Given the description of an element on the screen output the (x, y) to click on. 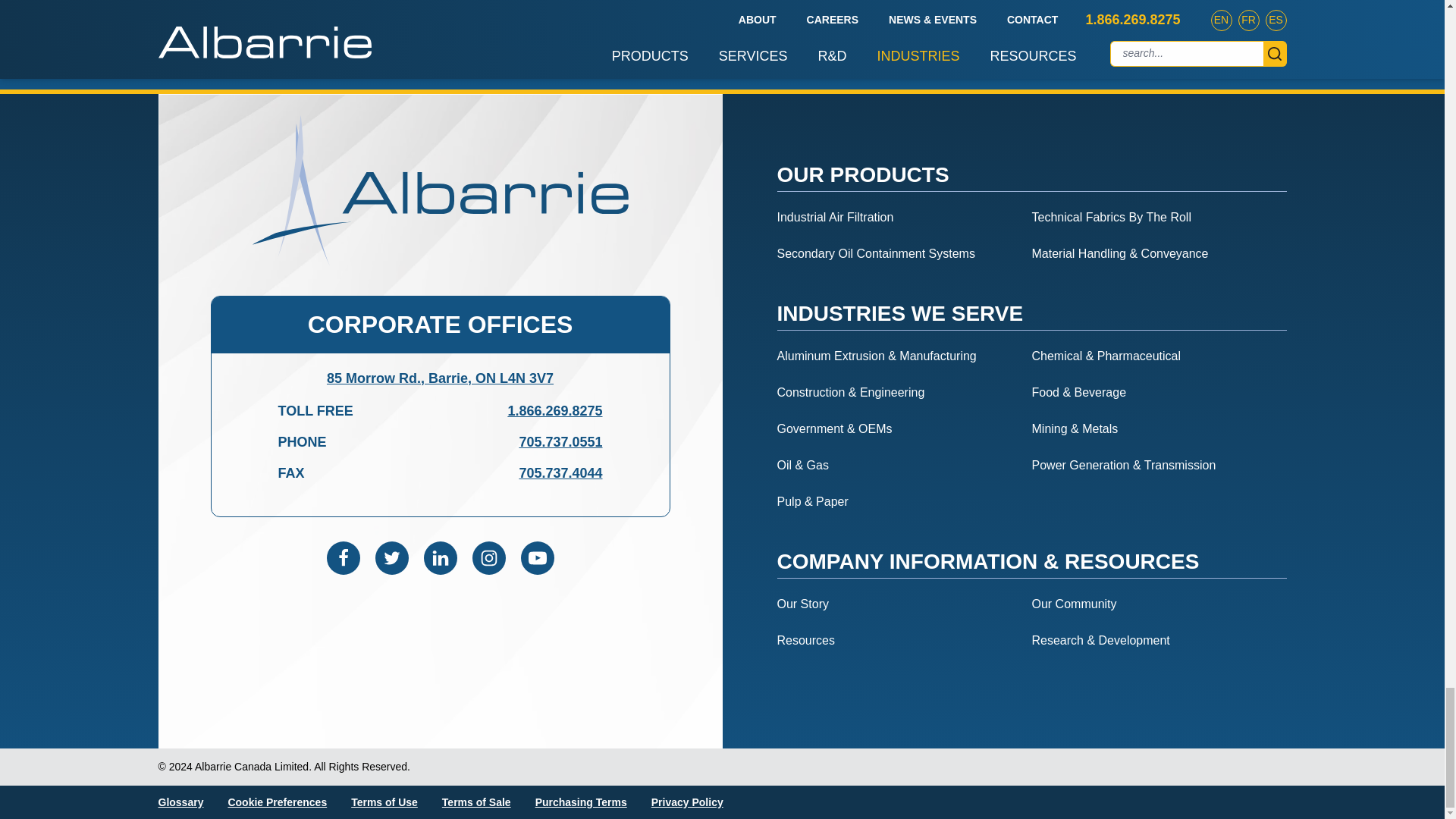
Youtube (536, 557)
Facebook (342, 557)
Twitter (390, 557)
Instagram (488, 557)
Linkedin (440, 557)
